Given the description of an element on the screen output the (x, y) to click on. 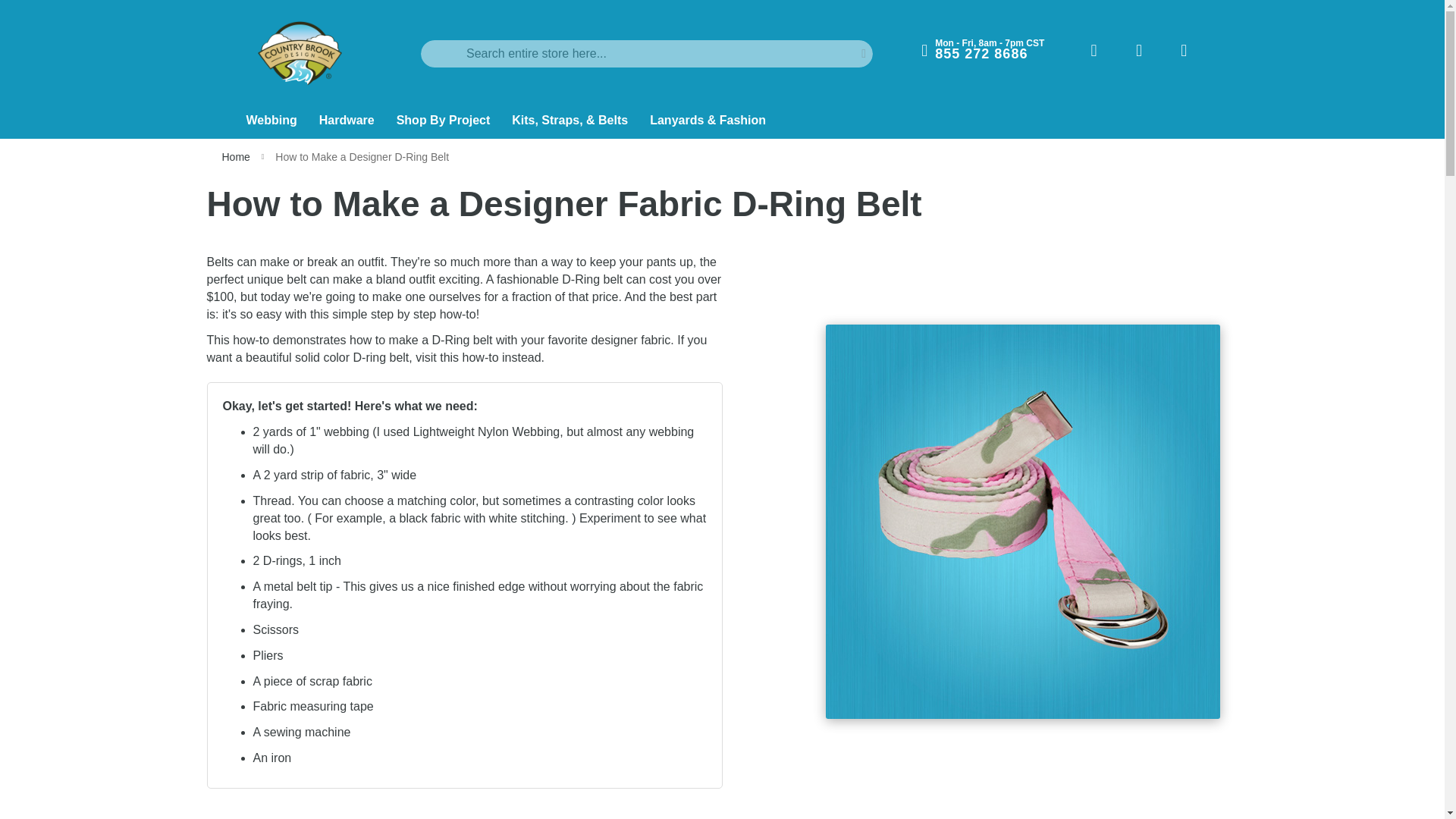
Webbing (271, 120)
Country Brook Design Logo (299, 53)
Go to Home Page (236, 156)
855 272 8686 (980, 53)
Hardware (348, 120)
